Given the description of an element on the screen output the (x, y) to click on. 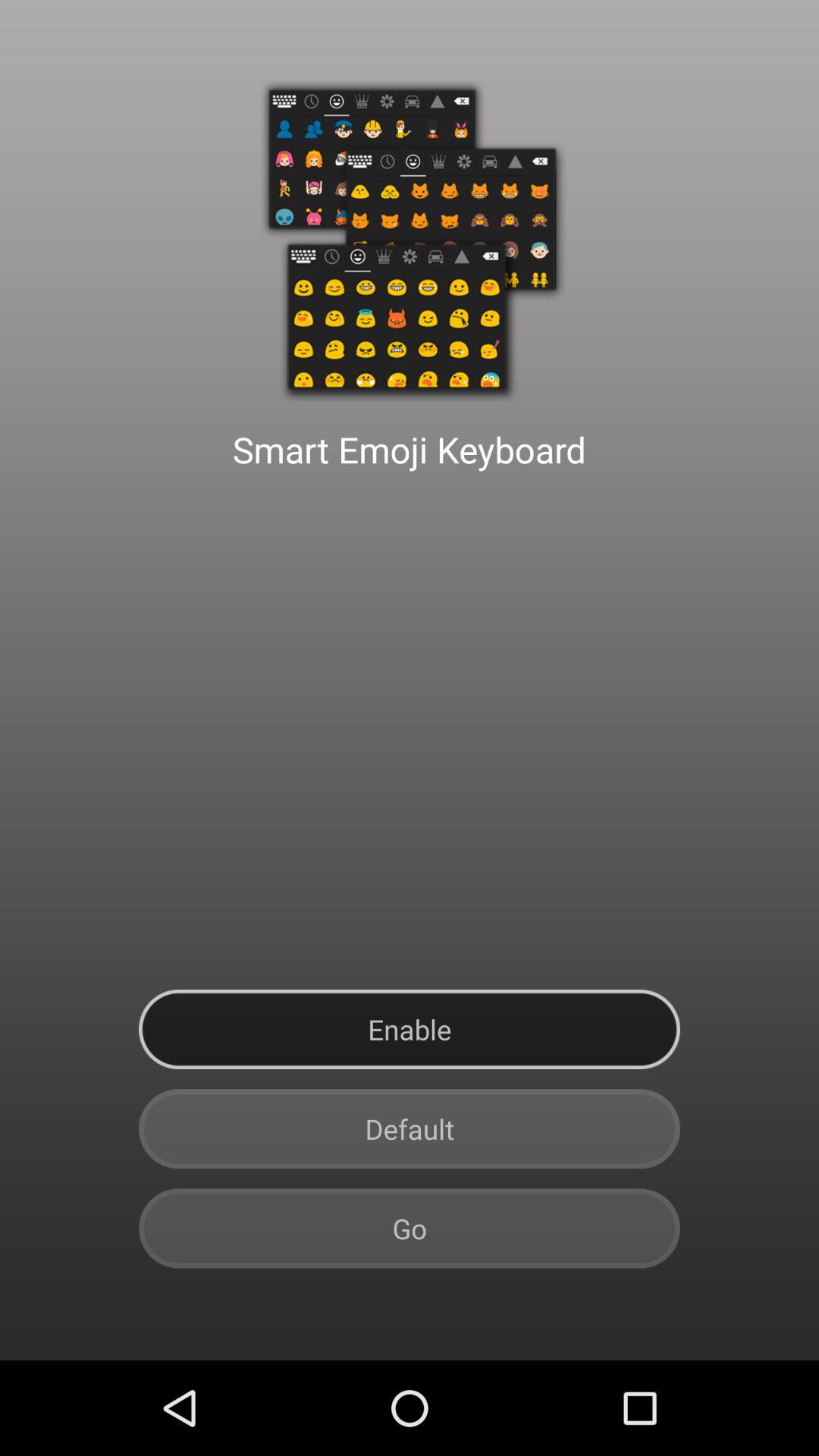
turn off button above default item (409, 1029)
